Given the description of an element on the screen output the (x, y) to click on. 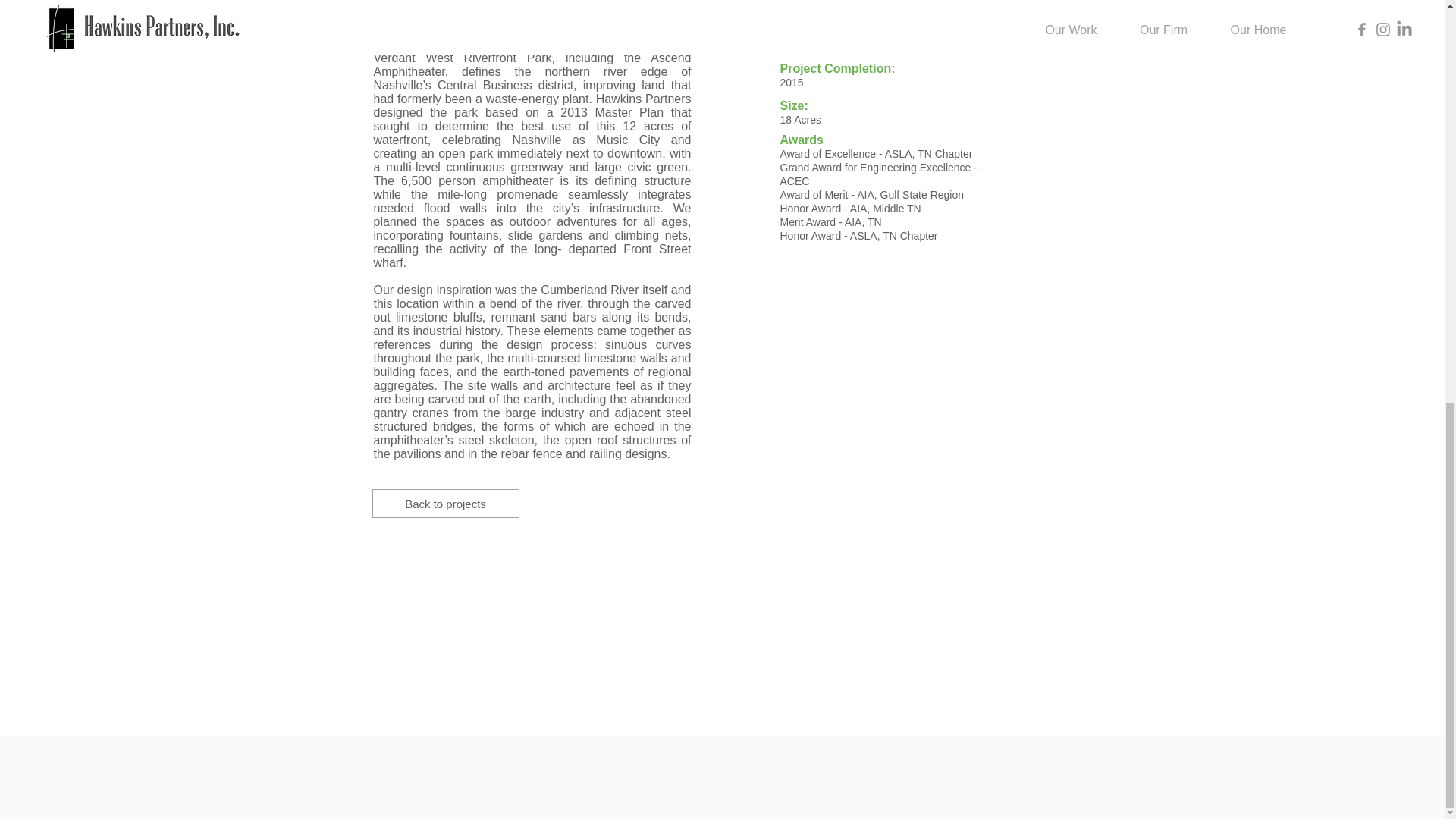
Back to projects (444, 502)
